Given the description of an element on the screen output the (x, y) to click on. 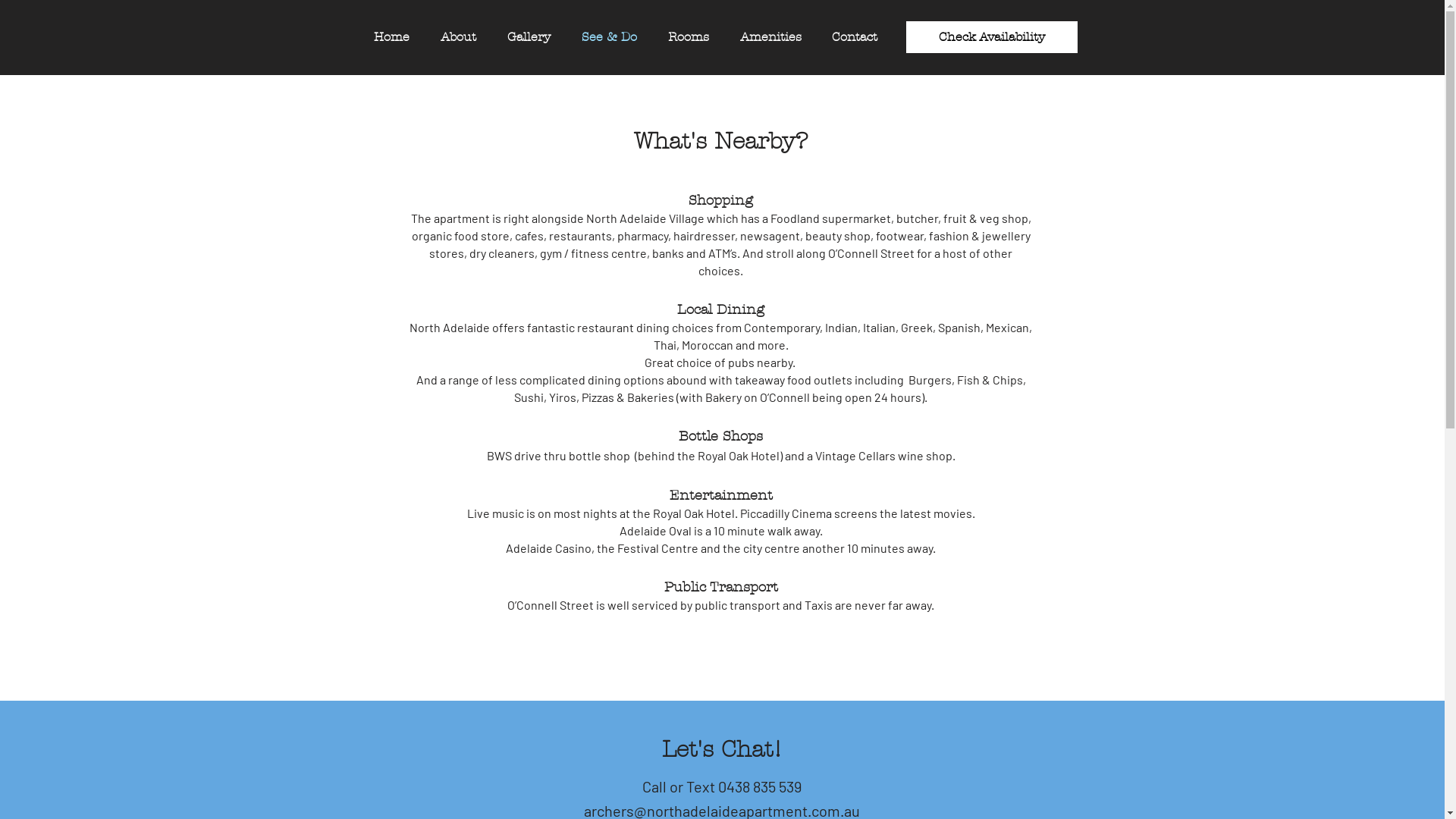
Contact Element type: text (853, 37)
See & Do Element type: text (608, 37)
Gallery Element type: text (528, 37)
Home Element type: text (390, 37)
About Element type: text (457, 37)
Amenities Element type: text (770, 37)
Check Availability Element type: text (990, 37)
Rooms Element type: text (688, 37)
